Given the description of an element on the screen output the (x, y) to click on. 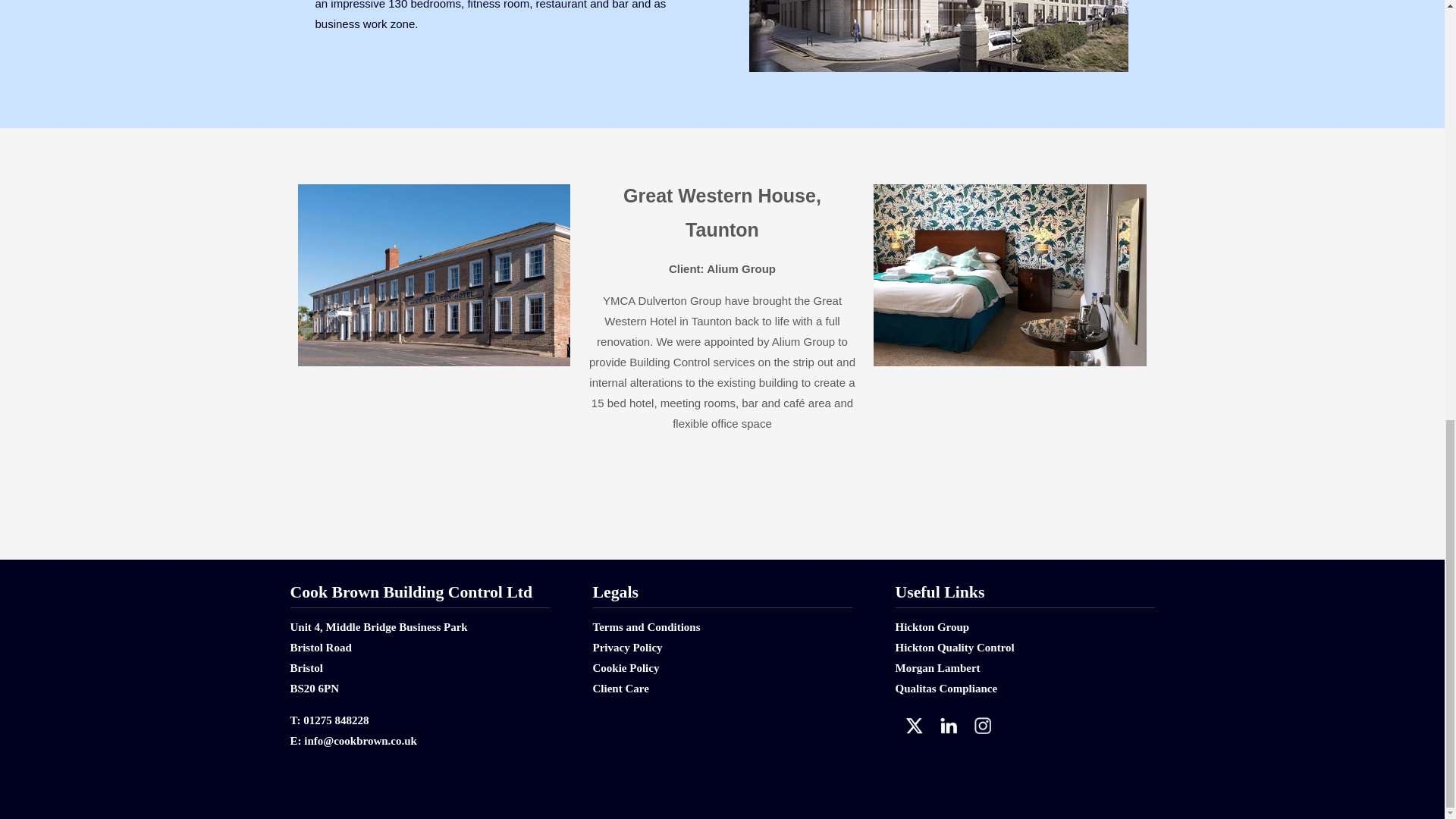
Cookie Policy (625, 667)
01275 848228 (335, 720)
Instagram (982, 725)
Qualitas Compliance (946, 688)
Privacy Policy (627, 647)
LinkedIn (948, 725)
Morgan Lambert (937, 667)
Cookie Policy  (625, 667)
Terms and Conditions (646, 626)
Hickton Group (932, 626)
Hickton Quality Control (954, 647)
Client Care (620, 688)
